Given the description of an element on the screen output the (x, y) to click on. 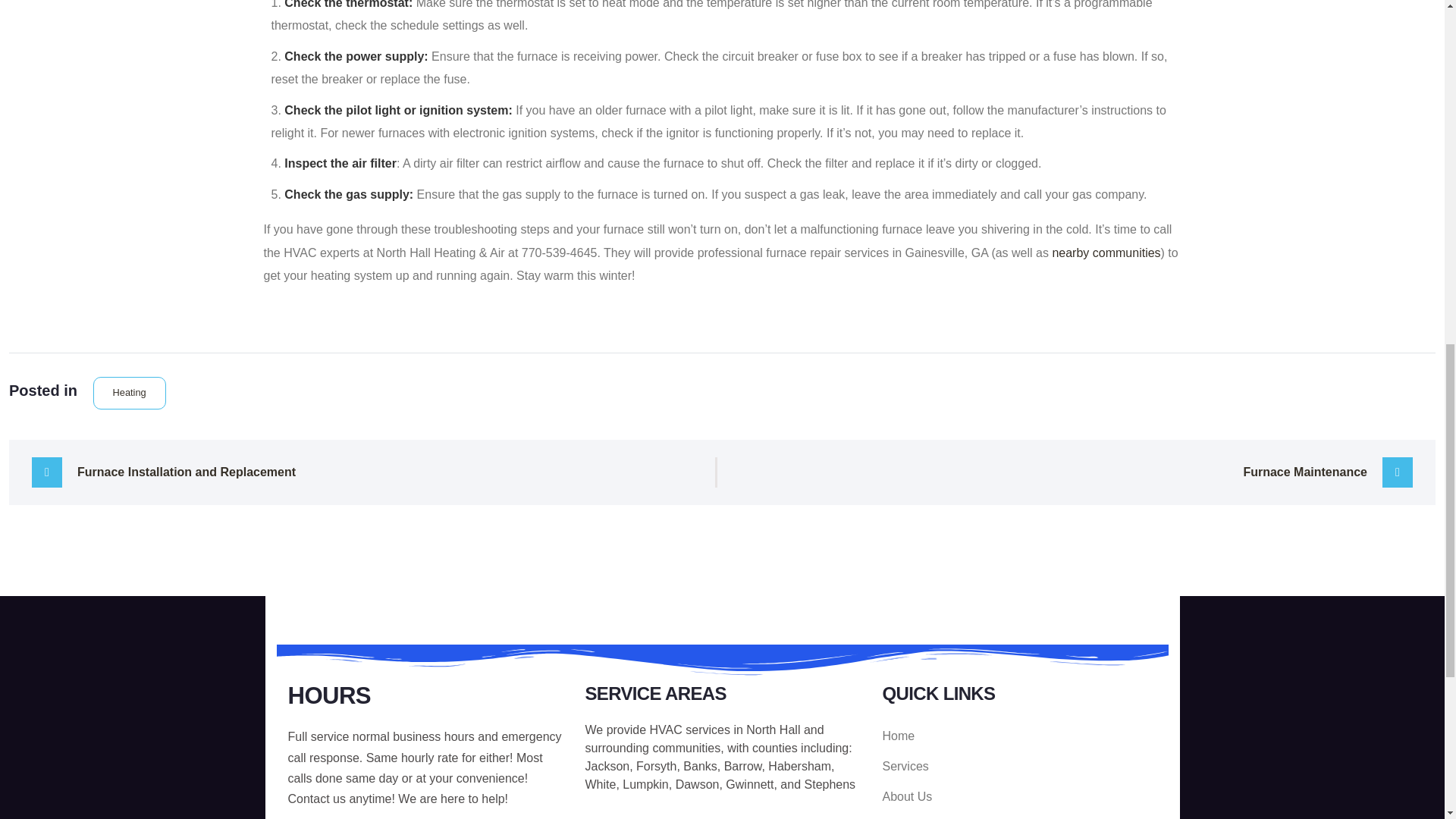
Contact Us (1019, 815)
communities (686, 748)
Furnace Maintenance (1078, 472)
Furnace Installation and Replacement (365, 472)
Home (1019, 736)
Services (1019, 766)
About Us (1019, 797)
nearby communities (1105, 252)
Heating (129, 392)
